Given the description of an element on the screen output the (x, y) to click on. 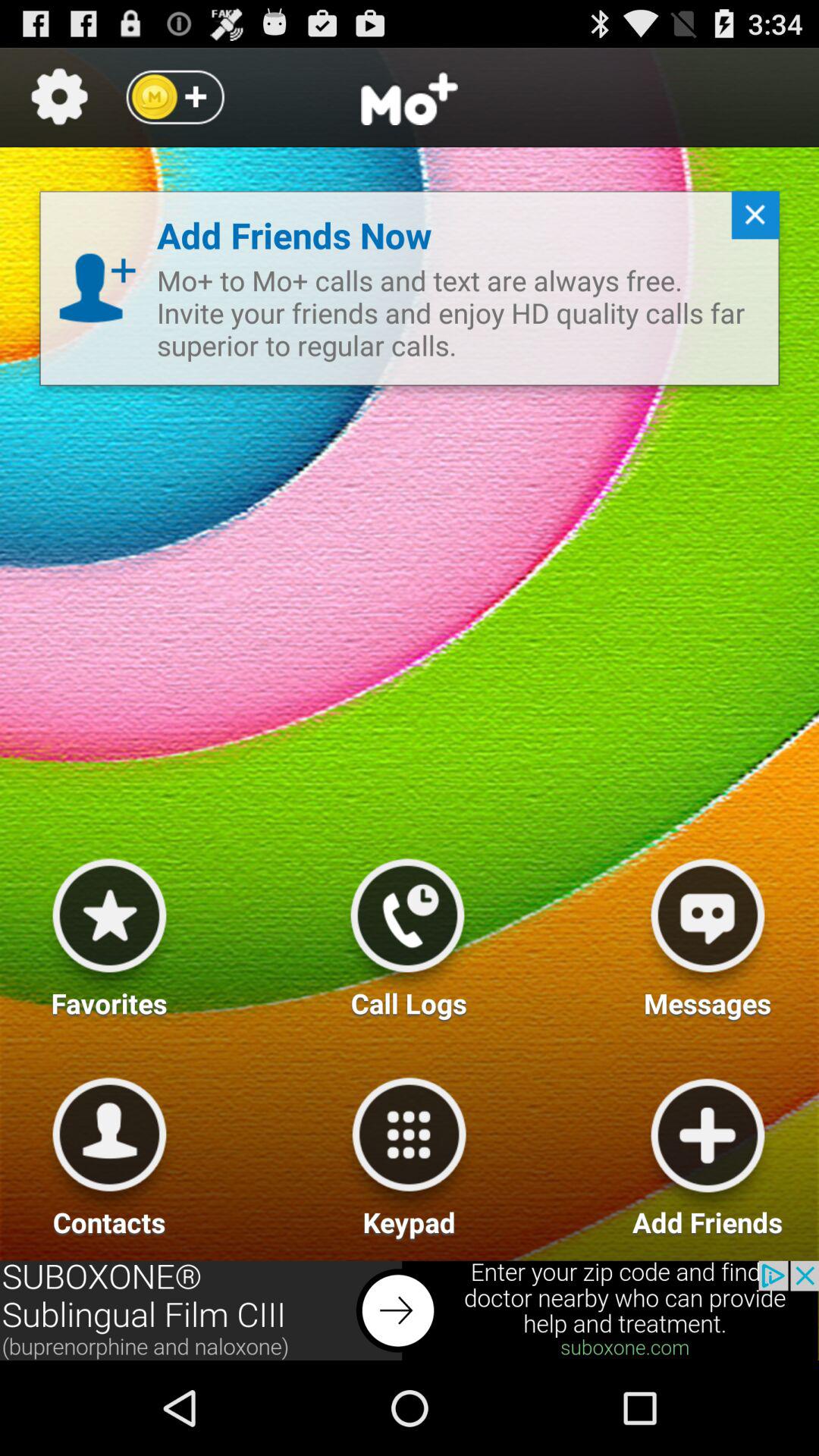
close this tab (749, 222)
